Given the description of an element on the screen output the (x, y) to click on. 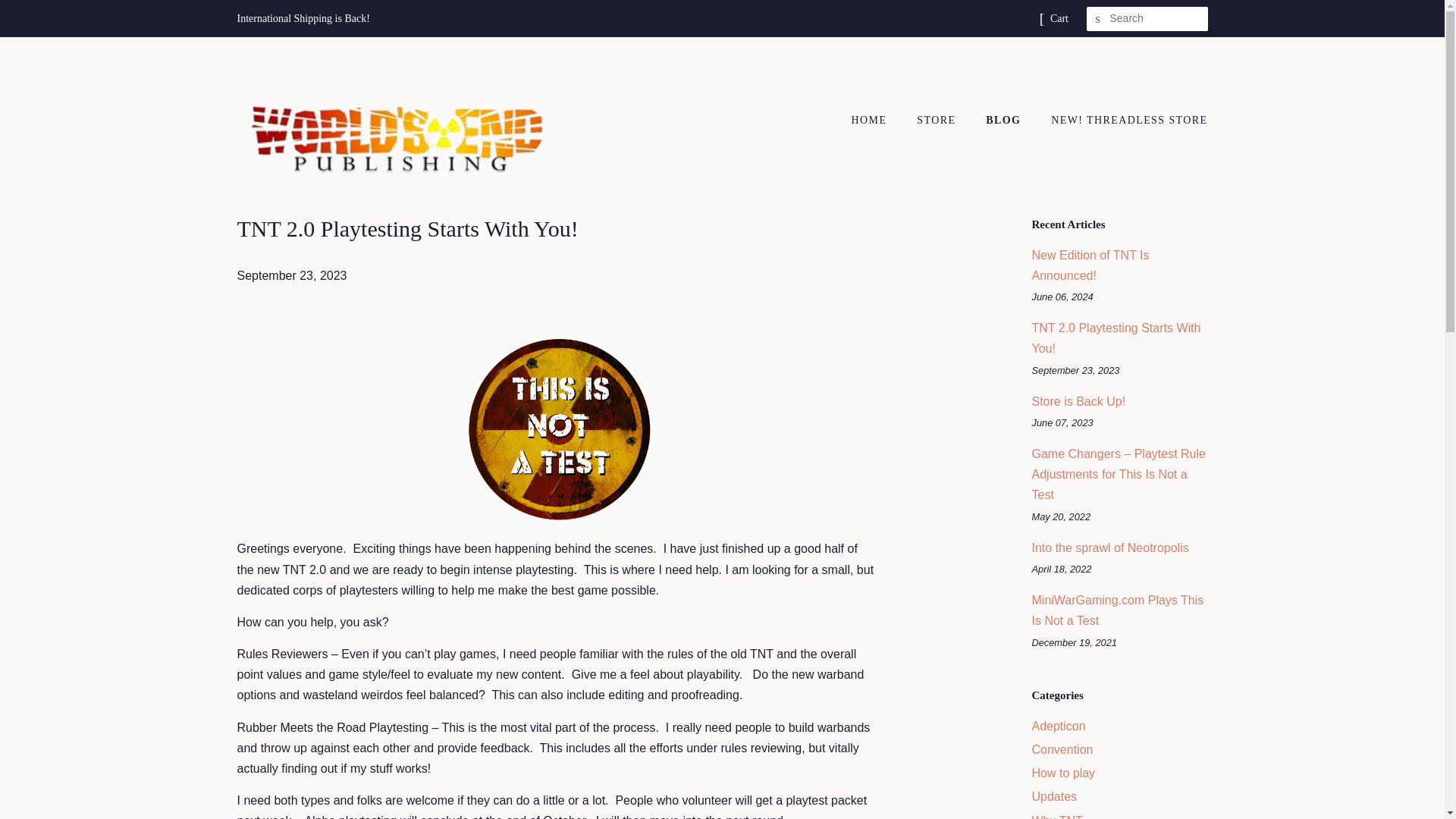
Updates (1053, 796)
Into the sprawl of Neotropolis (1109, 547)
BLOG (1004, 120)
Show articles tagged Convention (1061, 748)
Why TNT (1055, 816)
STORE (938, 120)
How to play (1062, 772)
New Edition of TNT Is Announced! (1089, 264)
TNT 2.0 Playtesting Starts With You! (1114, 337)
HOME (876, 120)
Store is Back Up! (1077, 400)
Convention (1061, 748)
Show articles tagged Updates (1053, 796)
Show articles tagged Adepticon (1057, 725)
Show articles tagged How to play (1062, 772)
